Given the description of an element on the screen output the (x, y) to click on. 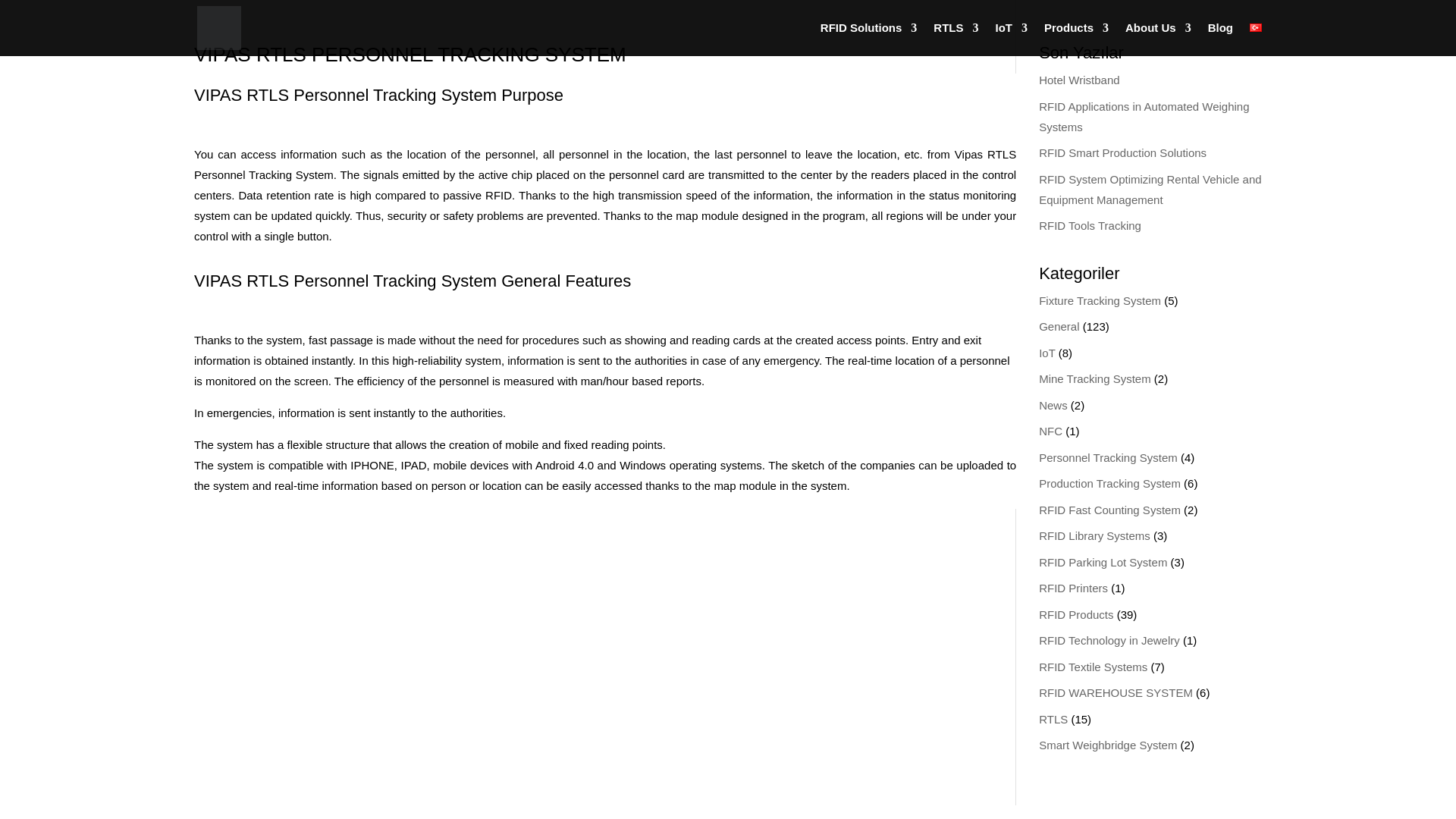
RFID Smart Production Solutions (1123, 152)
General (1058, 326)
News (1053, 404)
Hotel Wristband (1079, 79)
Products (1075, 39)
RFID Applications in Automated Weighing Systems (1144, 116)
RFID Tools Tracking (1090, 225)
IoT (1010, 39)
About Us (1158, 39)
RFID Solutions (869, 39)
Fixture Tracking System (1099, 300)
Mine Tracking System (1095, 378)
IoT (1046, 352)
RTLS (955, 39)
